Given the description of an element on the screen output the (x, y) to click on. 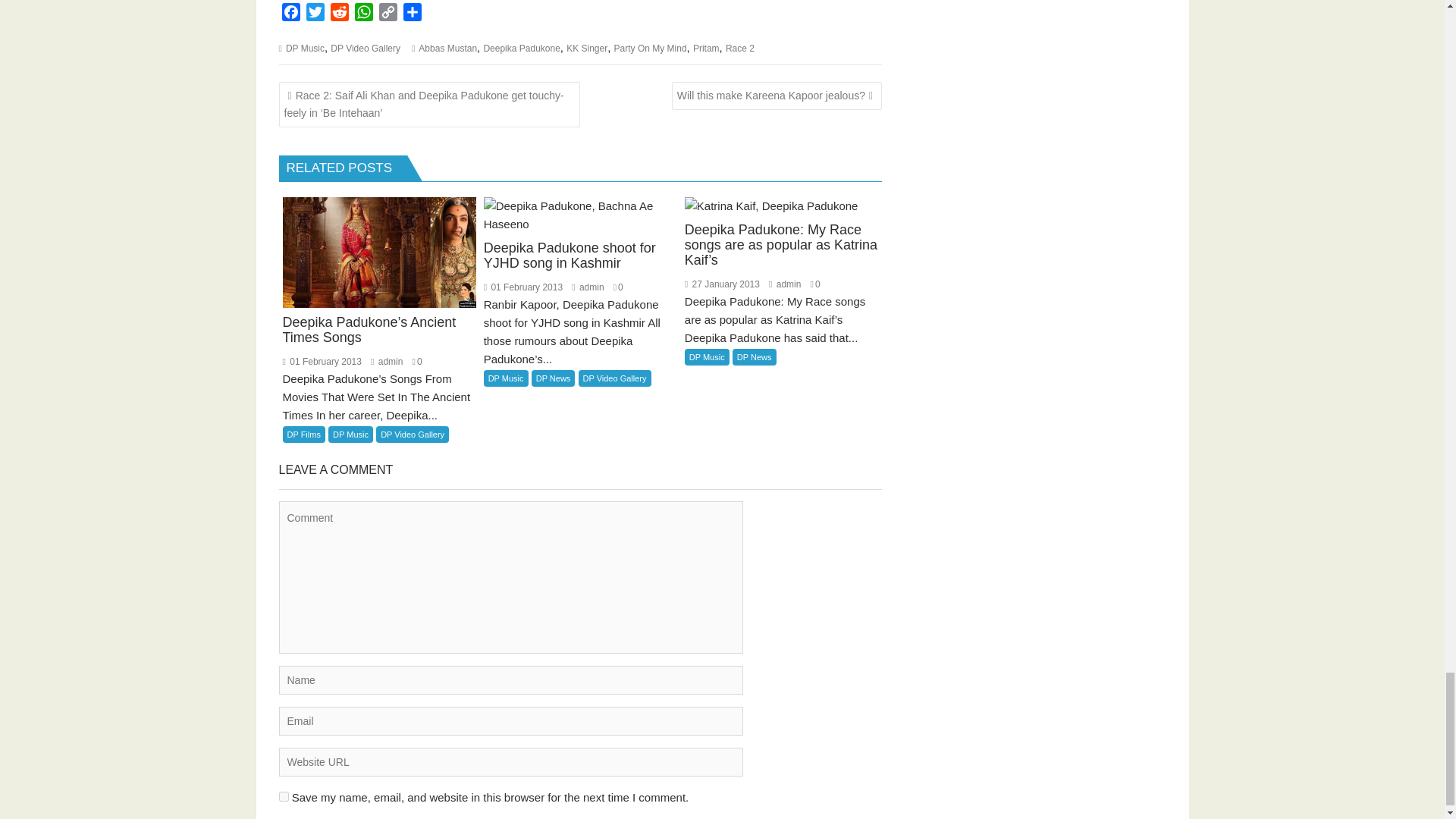
Twitter (314, 14)
Will this make Kareena Kapoor jealous? (776, 95)
Race 2 (739, 48)
Pritam (706, 48)
Party On My Mind (650, 48)
Facebook (290, 14)
admin (387, 361)
Abbas Mustan (448, 48)
admin (784, 284)
Reddit (339, 14)
